Given the description of an element on the screen output the (x, y) to click on. 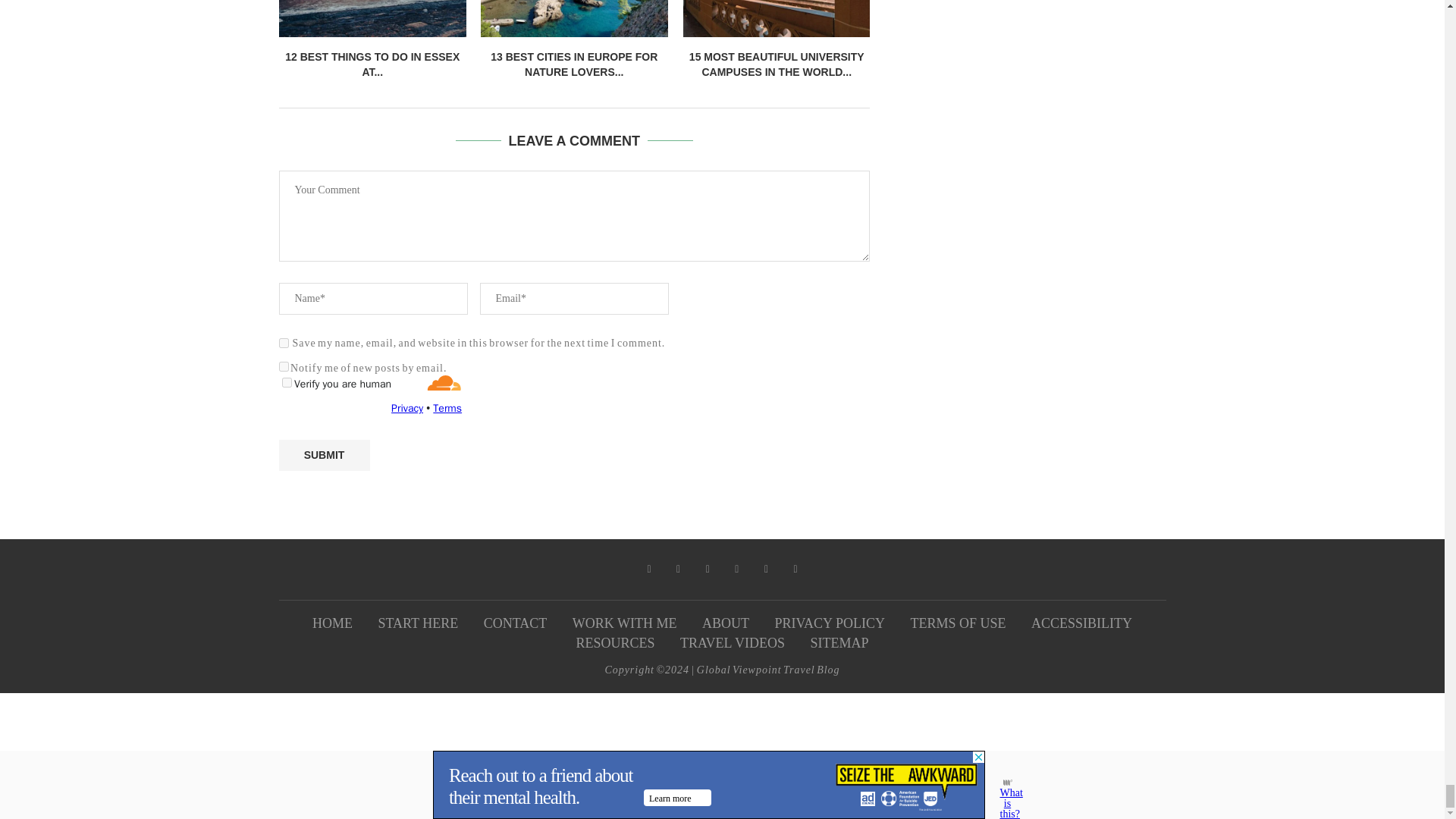
yes (283, 343)
subscribe (283, 366)
Submit (324, 454)
